Given the description of an element on the screen output the (x, y) to click on. 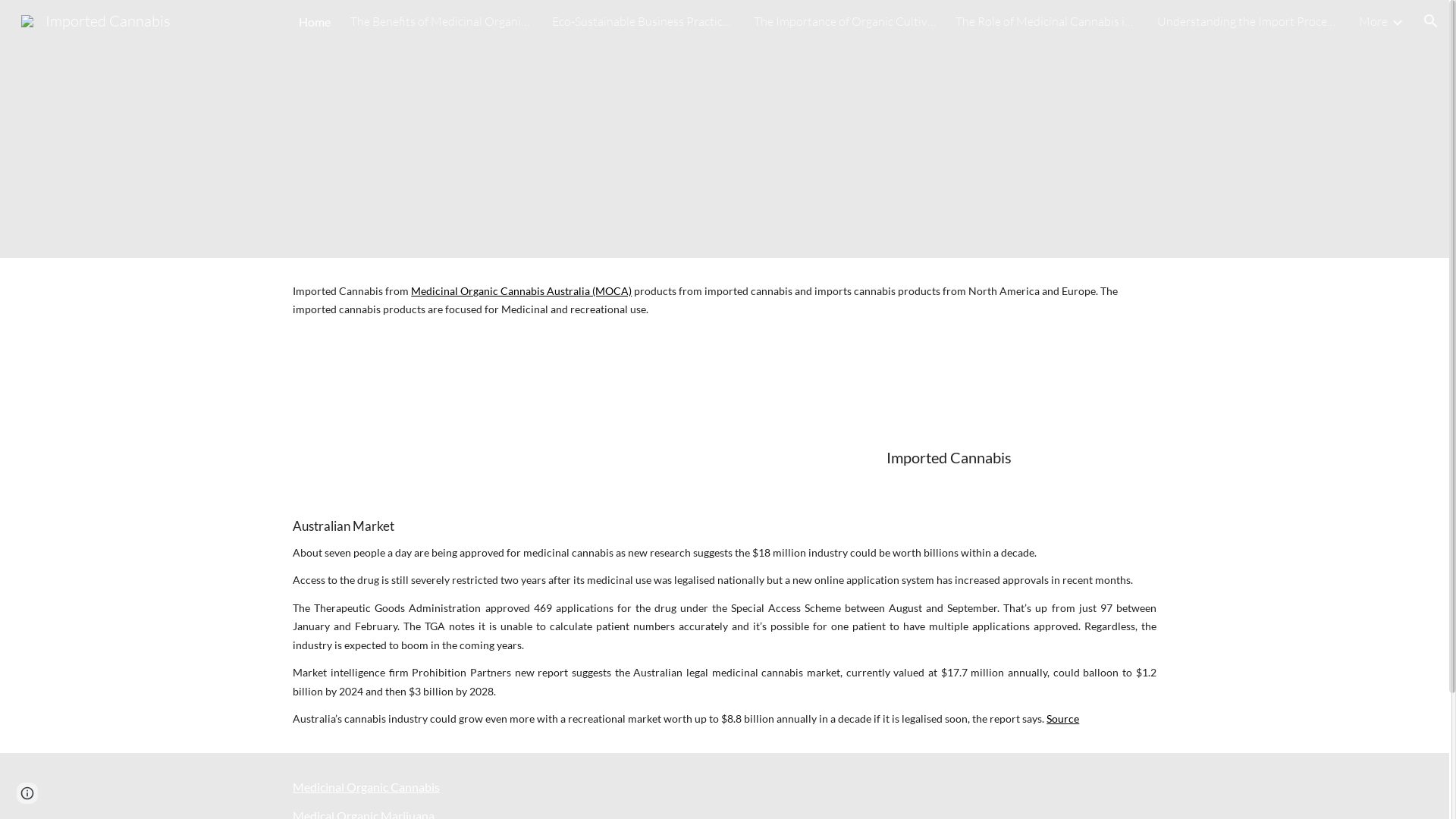
Imported Cannabis Element type: text (95, 18)
Medicinal Organic Cannabis Australia (MOCA) Element type: text (519, 290)
More Element type: text (1372, 20)
Home Element type: text (314, 20)
The Role of Medicinal Cannabis in Pain Management Element type: text (1046, 20)
Expand/Collapse Element type: hover (1396, 20)
Medicinal Organic Cannabis Element type: text (365, 787)
Source Element type: text (1061, 718)
